Given the description of an element on the screen output the (x, y) to click on. 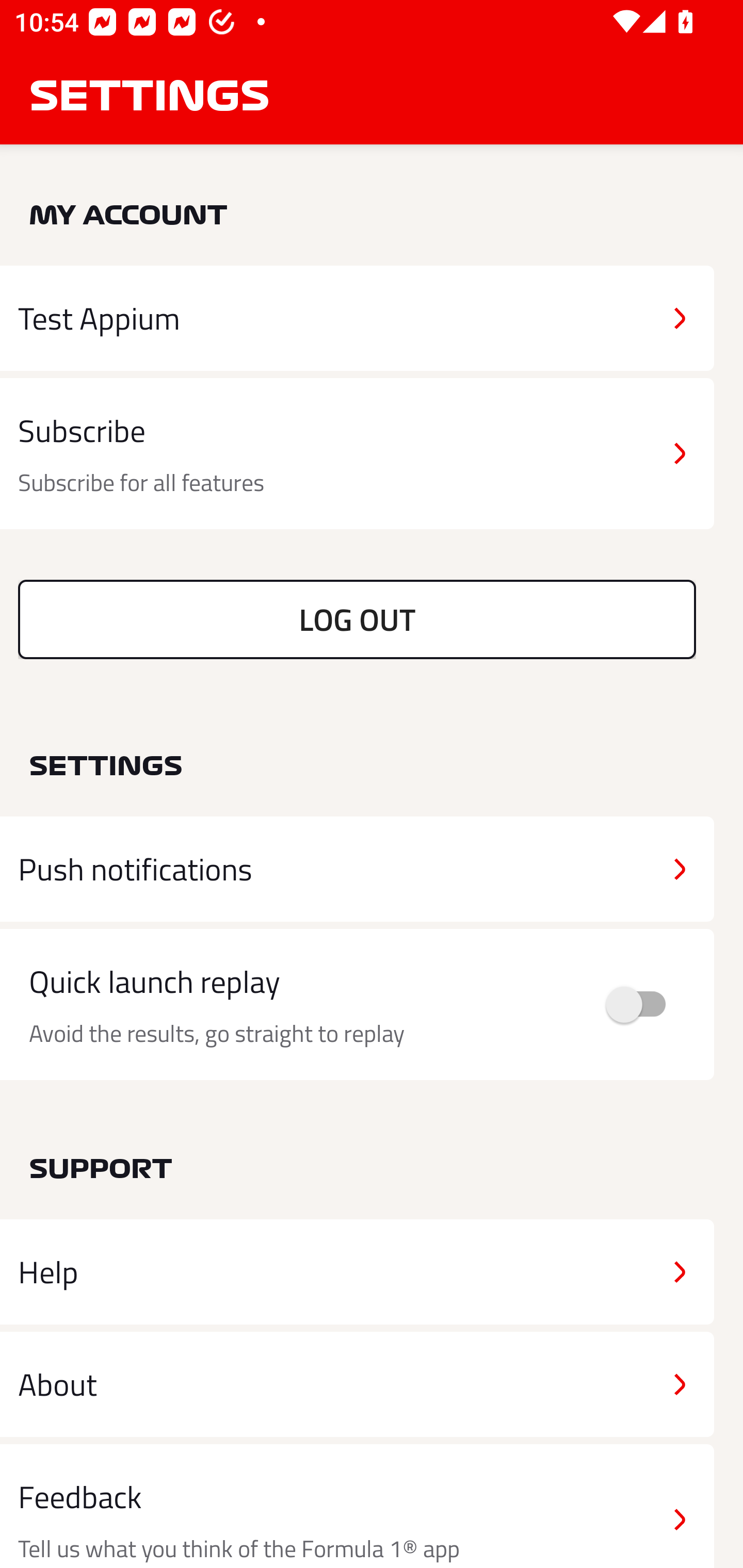
Test Appium (357, 317)
Subscribe Subscribe for all features (357, 453)
LOG OUT (356, 619)
Push notifications (357, 868)
Help (357, 1271)
About (357, 1383)
